Given the description of an element on the screen output the (x, y) to click on. 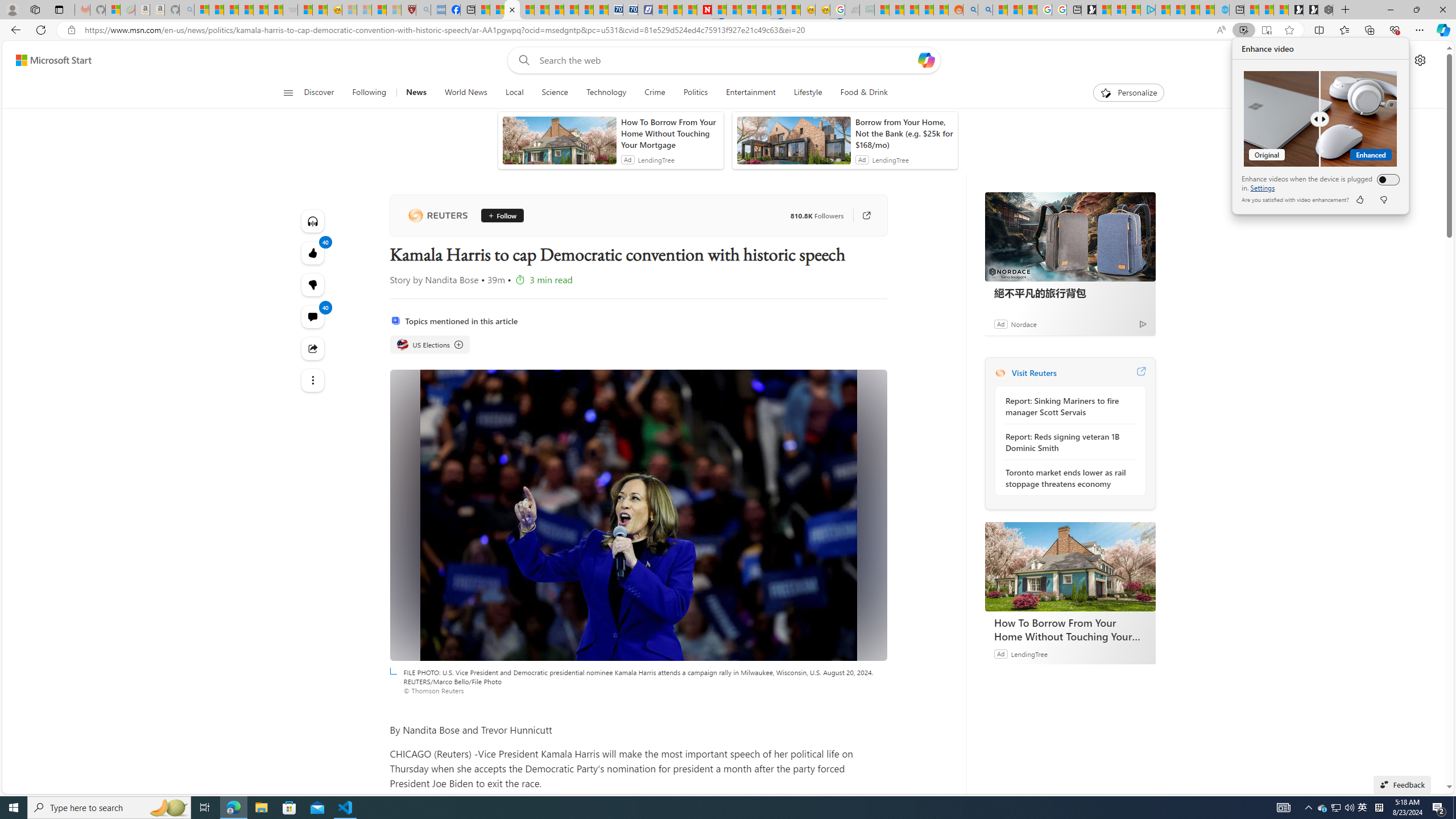
Enhance videos (1385, 179)
Notification Chevron (1308, 807)
User Promoted Notification Area (1336, 807)
anim-content (793, 144)
Share this story (312, 348)
Tray Input Indicator - Chinese (Simplified, China) (1322, 807)
Go to publisher's site (1378, 807)
LendingTree (860, 215)
